Given the description of an element on the screen output the (x, y) to click on. 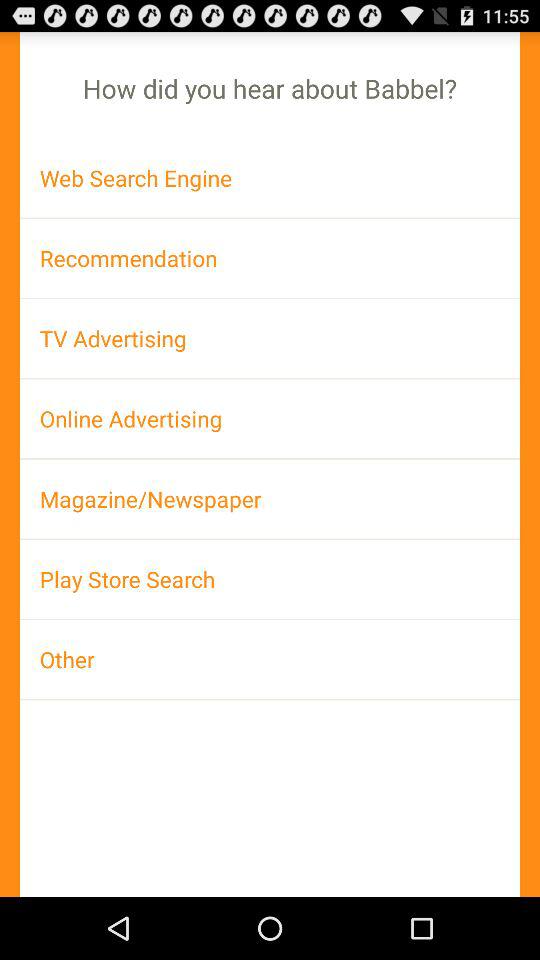
click play store search (269, 579)
